Given the description of an element on the screen output the (x, y) to click on. 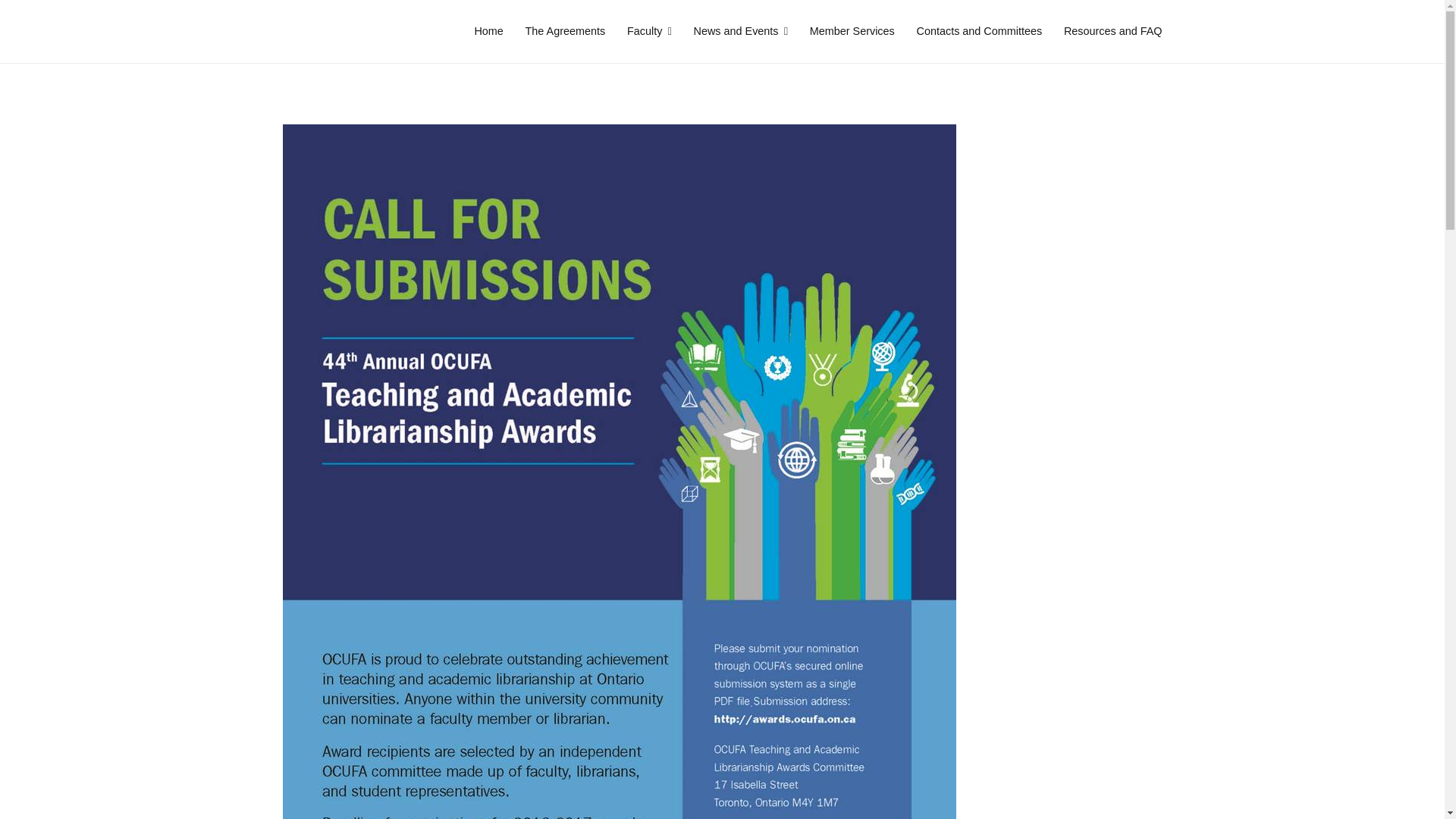
Contacts and Committees (979, 31)
Faculty (649, 31)
Resources and FAQ (1112, 31)
Member Services (852, 31)
News and Events (740, 31)
Home (488, 31)
WLUFA (306, 41)
The Agreements (565, 31)
